Given the description of an element on the screen output the (x, y) to click on. 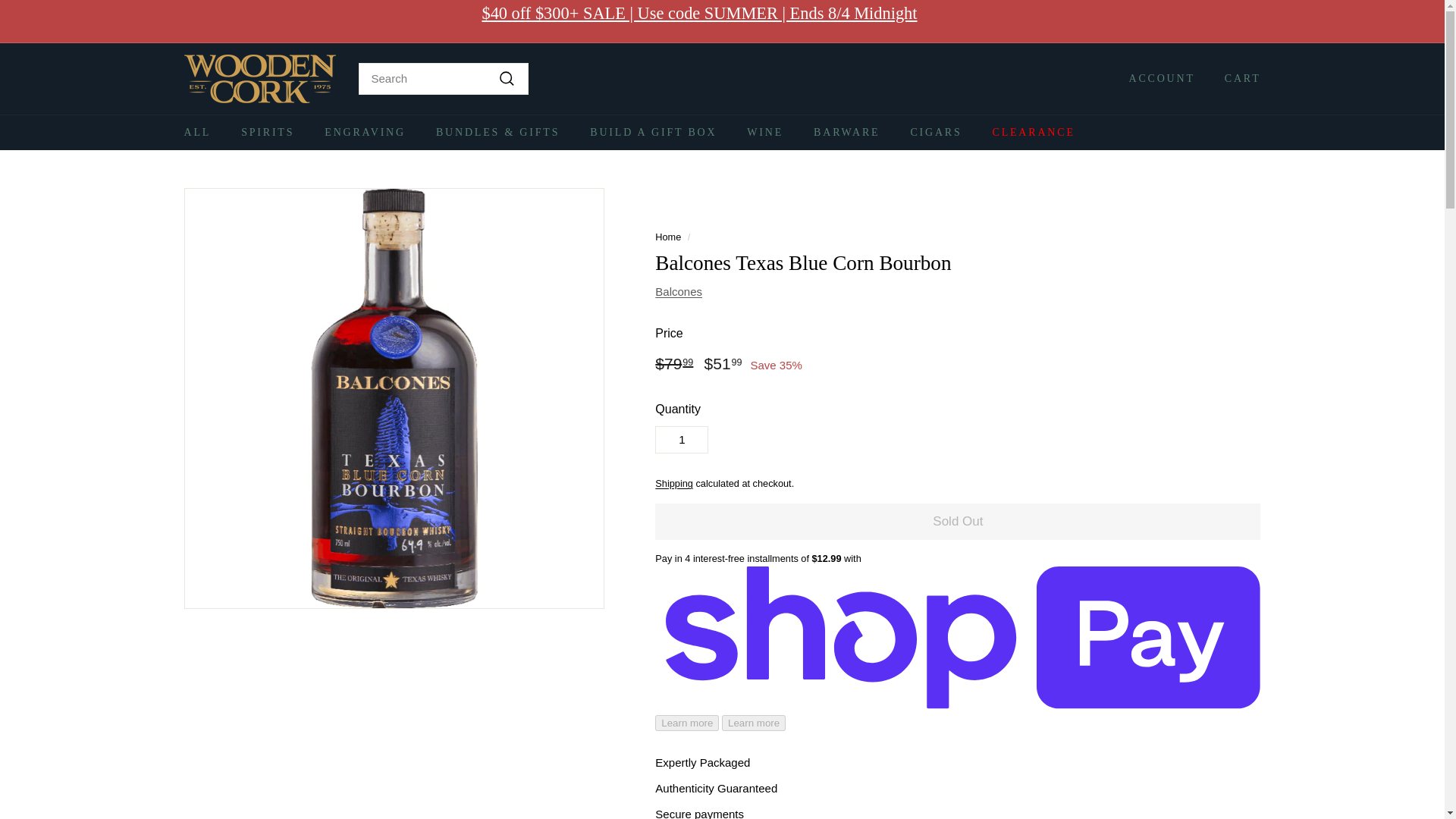
Wooden Cork on YouTube (1240, 21)
Wooden Cork on Pinterest (1256, 21)
YouTube (1240, 21)
CART (1236, 78)
1 (681, 439)
Instagram (1226, 21)
Pinterest (1256, 21)
Wooden Cork on Facebook (1233, 21)
Back to the frontpage (668, 236)
ACCOUNT (1156, 78)
Wooden Cork on Twitter (1248, 21)
ALL (196, 131)
Wooden Cork on Instagram (1226, 21)
Facebook (1233, 21)
